Given the description of an element on the screen output the (x, y) to click on. 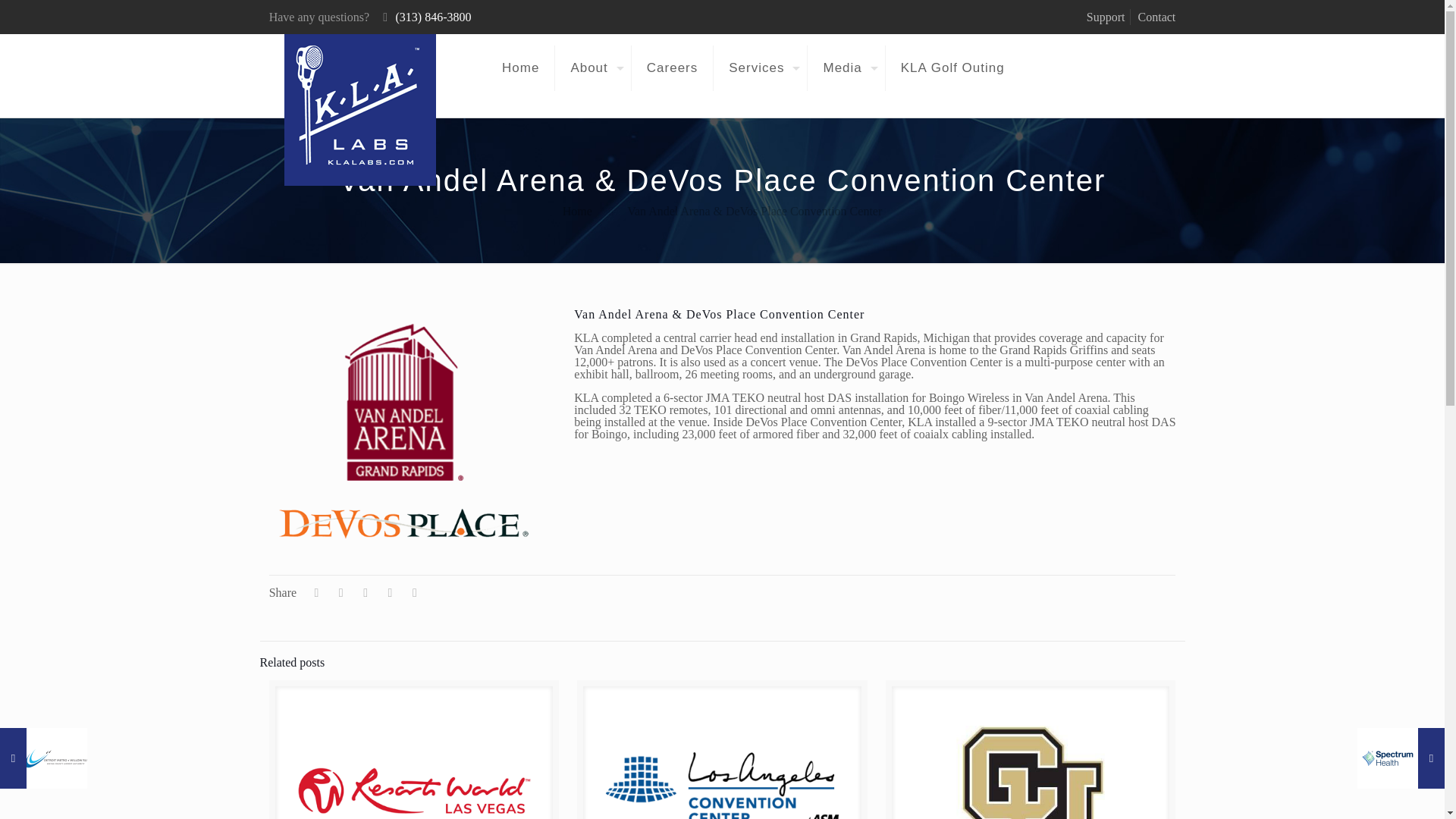
KLA Golf Outing (952, 68)
Van-Andel-DeVos-Logo (404, 426)
Home (520, 68)
Contact (1157, 16)
Support (1105, 16)
Services (760, 68)
Media (846, 68)
About (592, 68)
Careers (672, 68)
Home (577, 210)
